Given the description of an element on the screen output the (x, y) to click on. 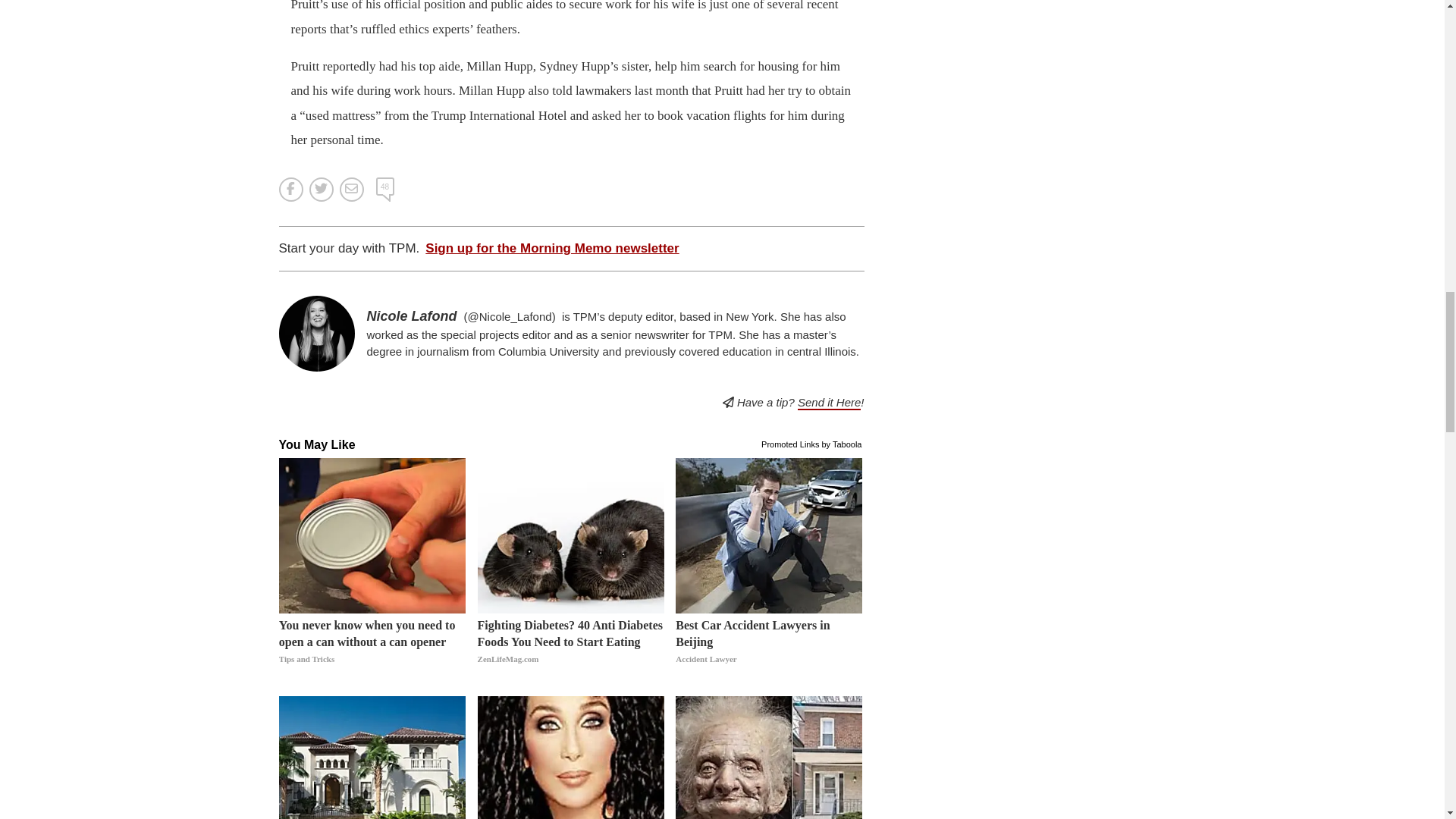
Best Car Accident Lawyers in Beijing (768, 650)
